Given the description of an element on the screen output the (x, y) to click on. 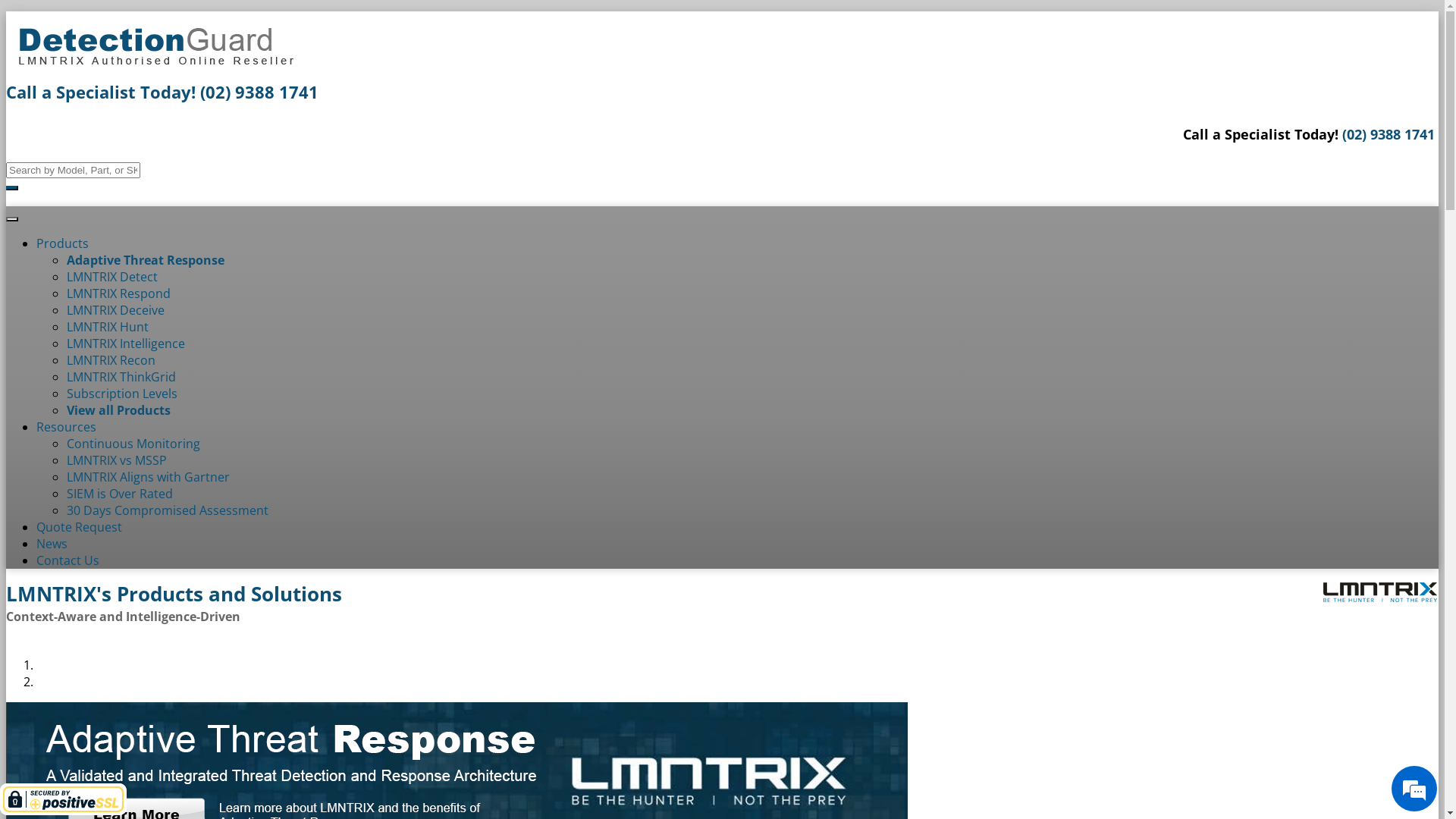
LMNTRIX Intelligence Element type: text (125, 343)
SIEM is Over Rated Element type: text (119, 493)
LMNTRIX Aligns with Gartner Element type: text (147, 476)
LMNTRIX vs MSSP Element type: text (116, 459)
Adaptive Threat Response Element type: text (145, 259)
LMNTRIX ThinkGrid Element type: text (120, 376)
Continuous Monitoring Element type: text (133, 443)
Contact Us Element type: text (67, 560)
(02) 9388 1741 Element type: text (1388, 134)
LMNTRIX Hunt Element type: text (107, 326)
View all Products Element type: text (118, 409)
30 Days Compromised Assessment Element type: text (167, 510)
LMNTRIX Respond Element type: text (118, 293)
Quote Request Element type: text (79, 526)
Products Element type: text (62, 243)
News Element type: text (51, 543)
LMNTRIX Deceive Element type: text (115, 309)
LMNTRIX Recon Element type: text (110, 359)
Subscription Levels Element type: text (121, 393)
Resources Element type: text (66, 426)
(02) 9388 1741 Element type: text (259, 91)
LMNTRIX Detect Element type: text (111, 276)
